Given the description of an element on the screen output the (x, y) to click on. 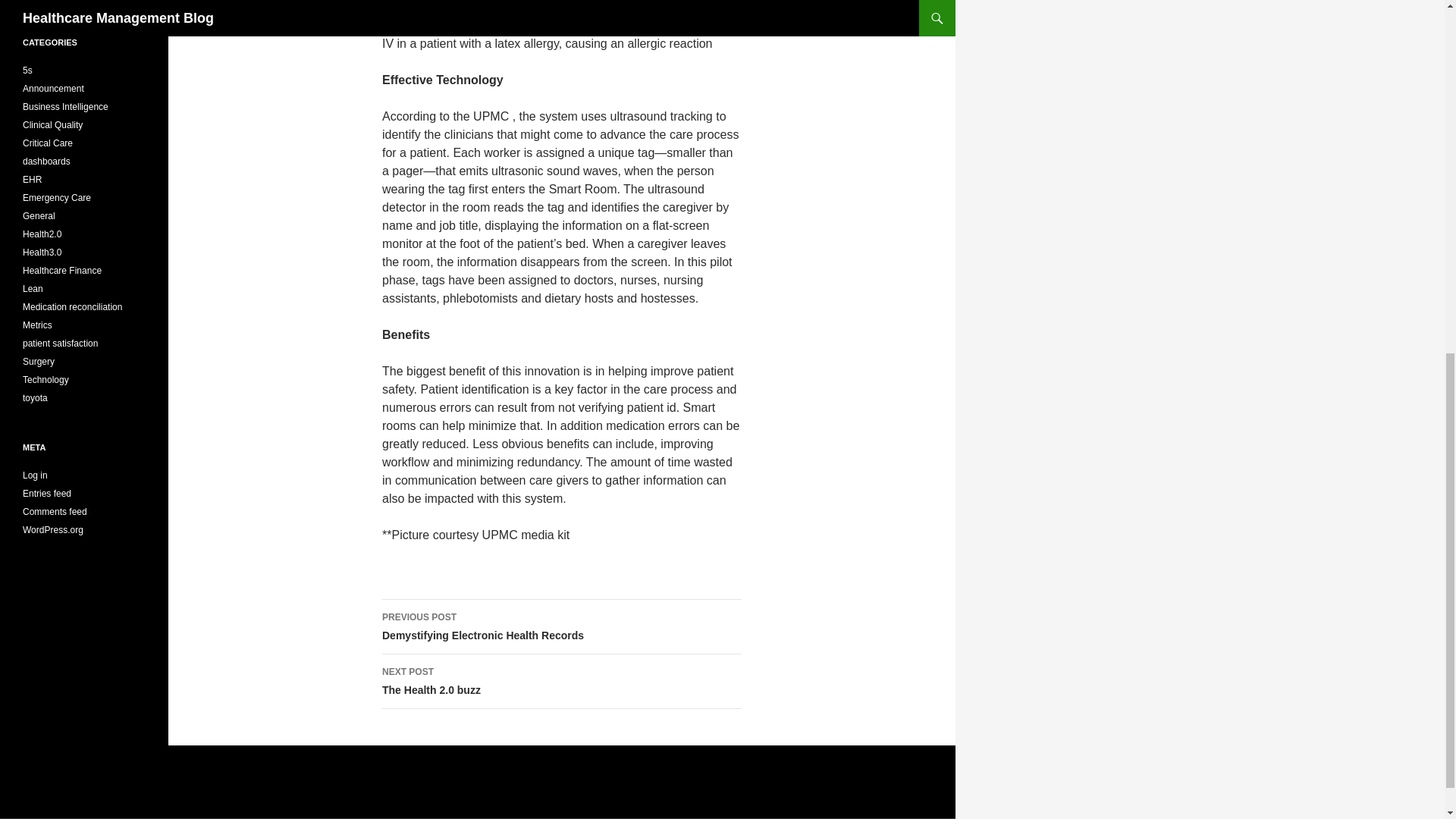
Announcement (53, 88)
Emergency Care (56, 197)
dashboards (46, 161)
EHR (32, 179)
Clinical Quality (561, 626)
Business Intelligence (52, 124)
Critical Care (65, 106)
5s (47, 143)
